Given the description of an element on the screen output the (x, y) to click on. 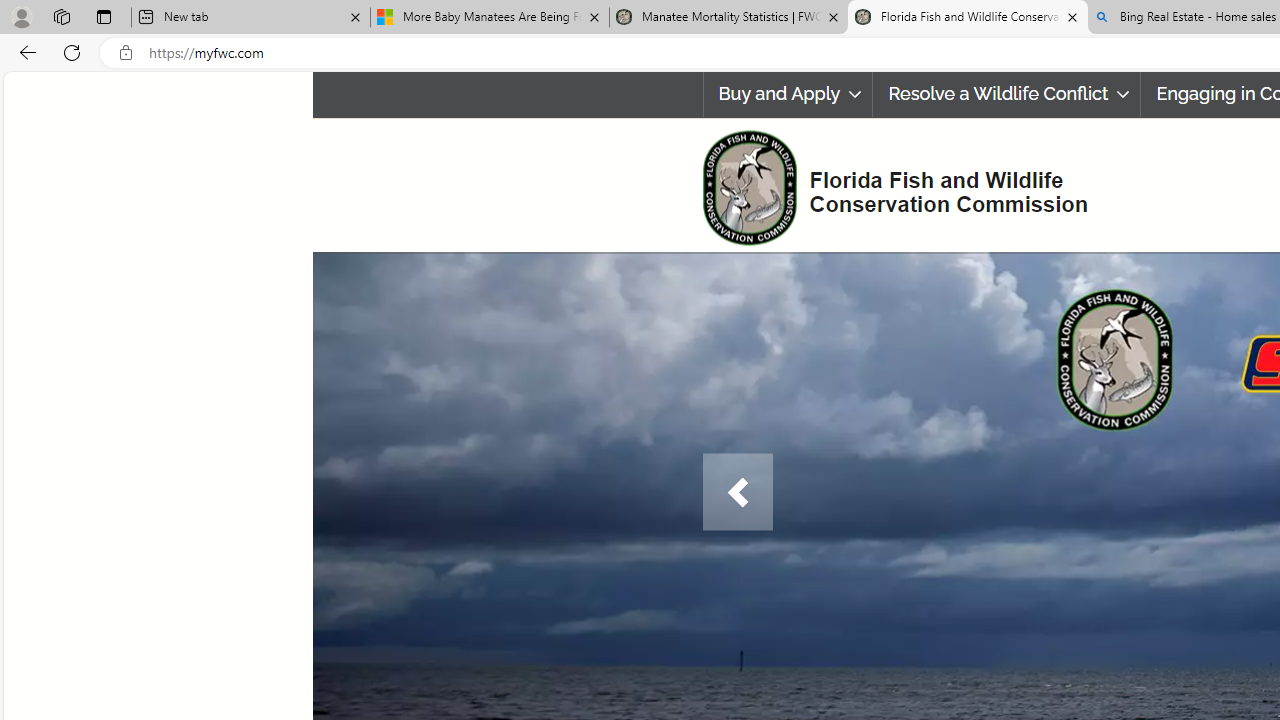
Previous (737, 491)
